Given the description of an element on the screen output the (x, y) to click on. 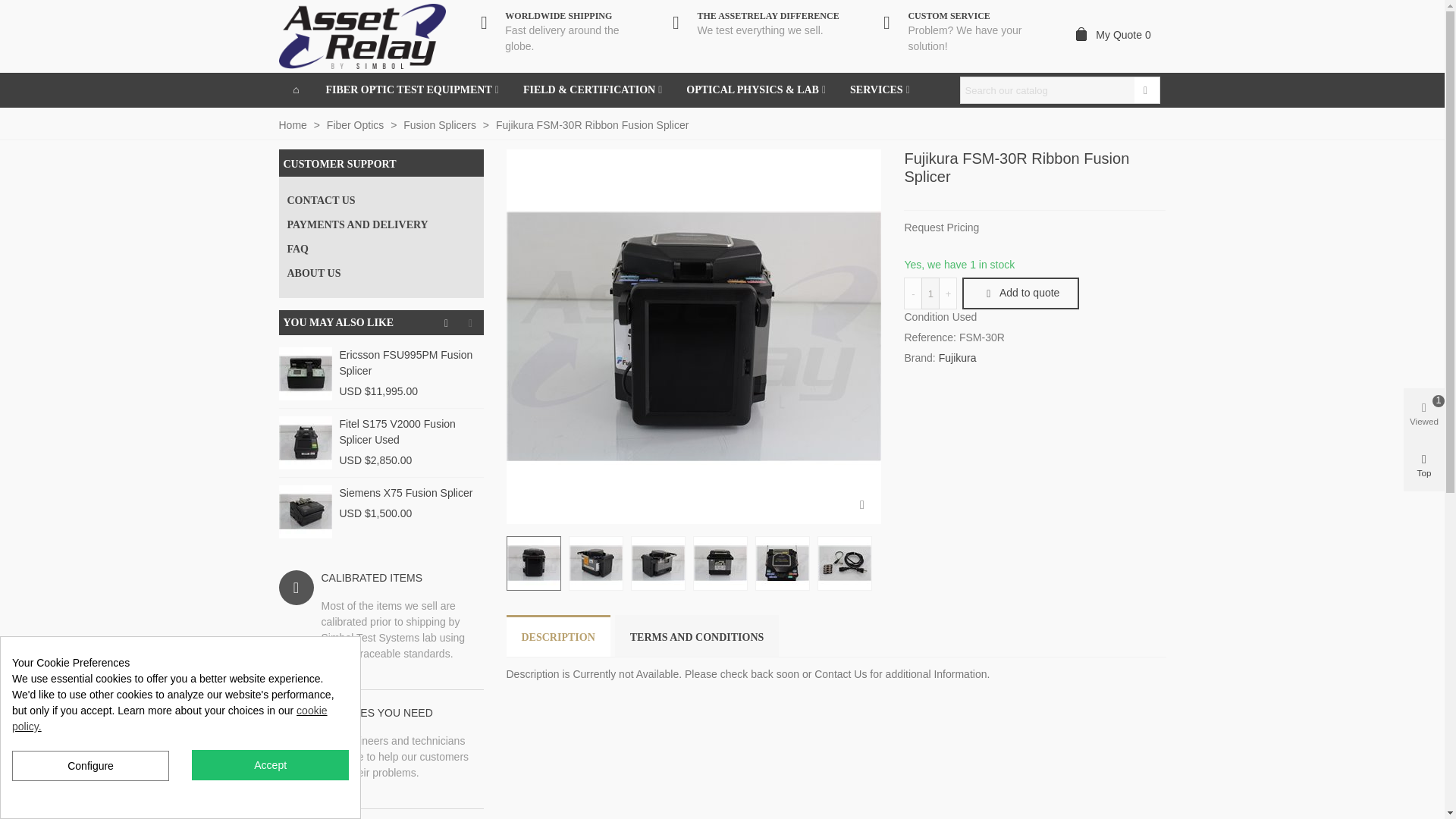
Fiber Optic Test Equipment (412, 89)
1 (930, 293)
FIBER OPTIC TEST EQUIPMENT (412, 89)
AssetRelay (362, 36)
Quotation Cart (1115, 35)
My Quote 0   (1115, 35)
